Given the description of an element on the screen output the (x, y) to click on. 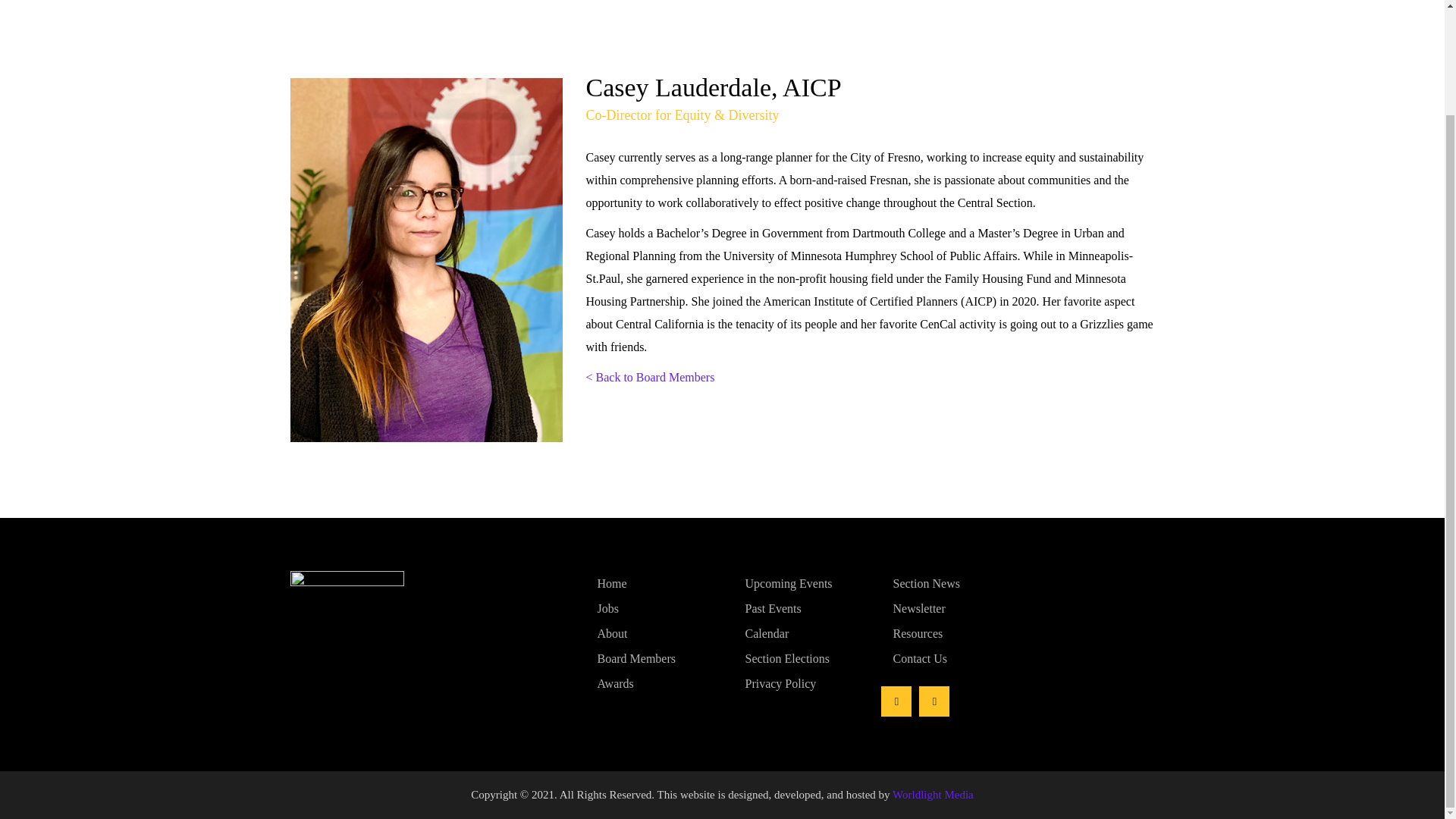
About (653, 633)
Home (653, 583)
Jobs (653, 608)
